Given the description of an element on the screen output the (x, y) to click on. 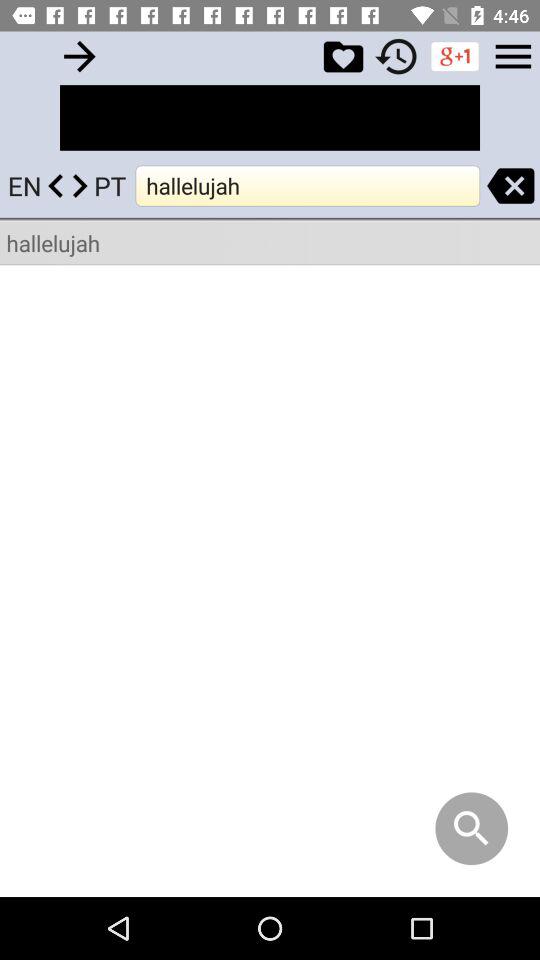
go to next page (79, 56)
